Given the description of an element on the screen output the (x, y) to click on. 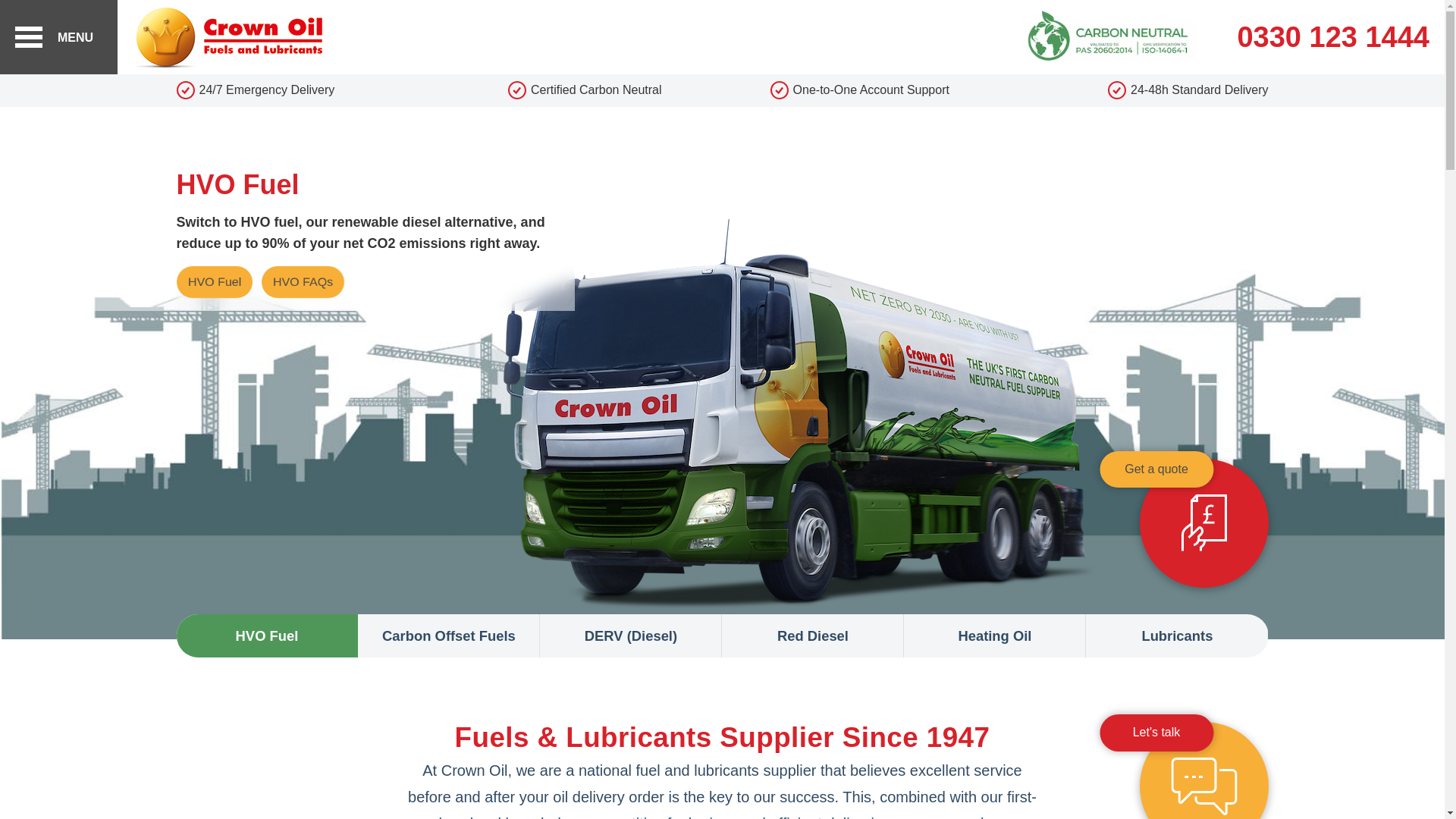
Certified Carbon Neutral (585, 90)
MENU (58, 37)
24-48h Standard Delivery (1134, 90)
One-to-One Account Support (860, 90)
